Given the description of an element on the screen output the (x, y) to click on. 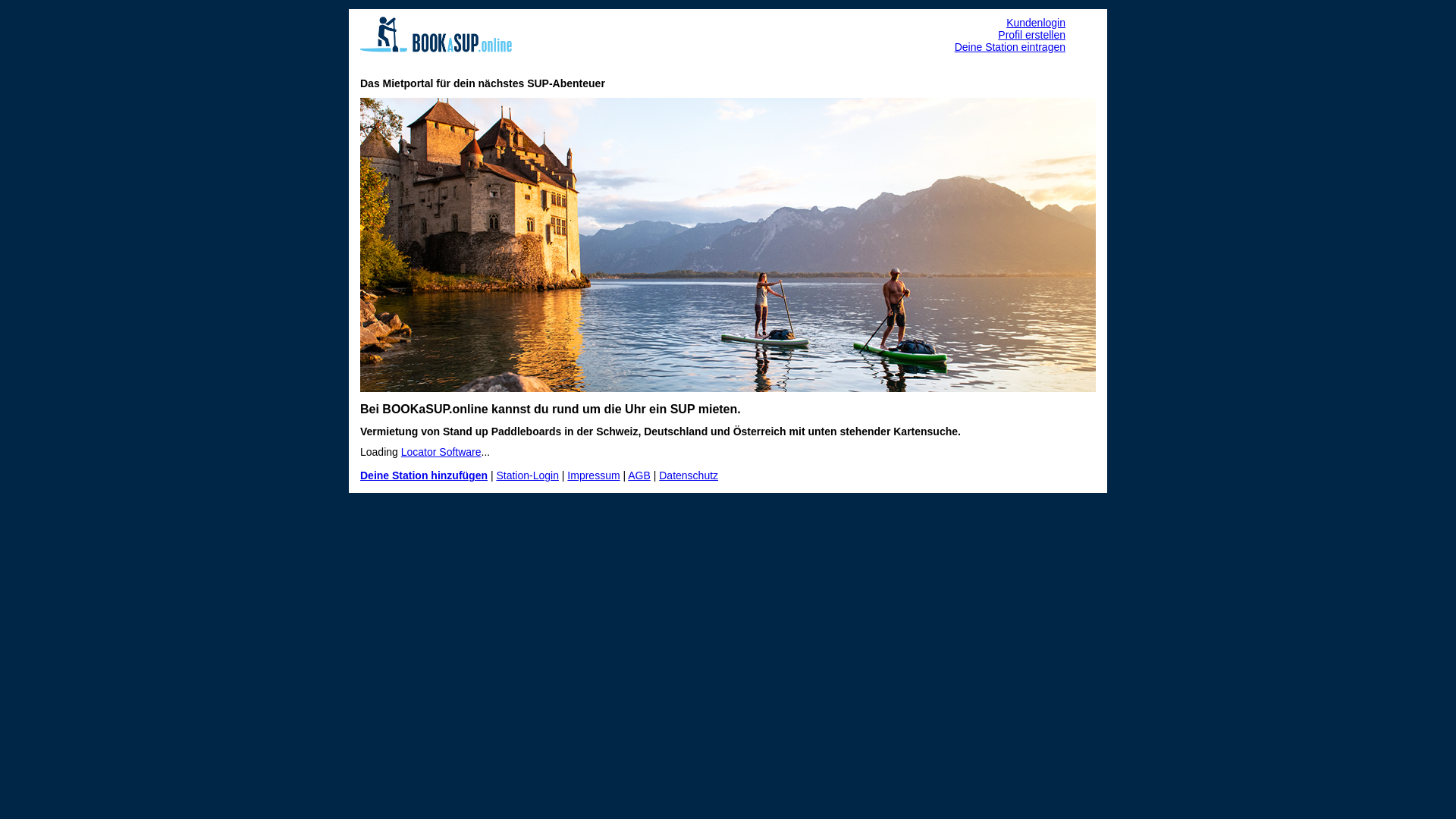
Datenschutz Element type: text (688, 475)
Station-Login Element type: text (526, 475)
Profil erstellen Element type: text (1031, 34)
Locator Software Element type: text (441, 451)
Deine Station eintragen Element type: text (1009, 46)
Kundenlogin Element type: text (1035, 22)
AGB Element type: text (638, 475)
Impressum Element type: text (593, 475)
